Given the description of an element on the screen output the (x, y) to click on. 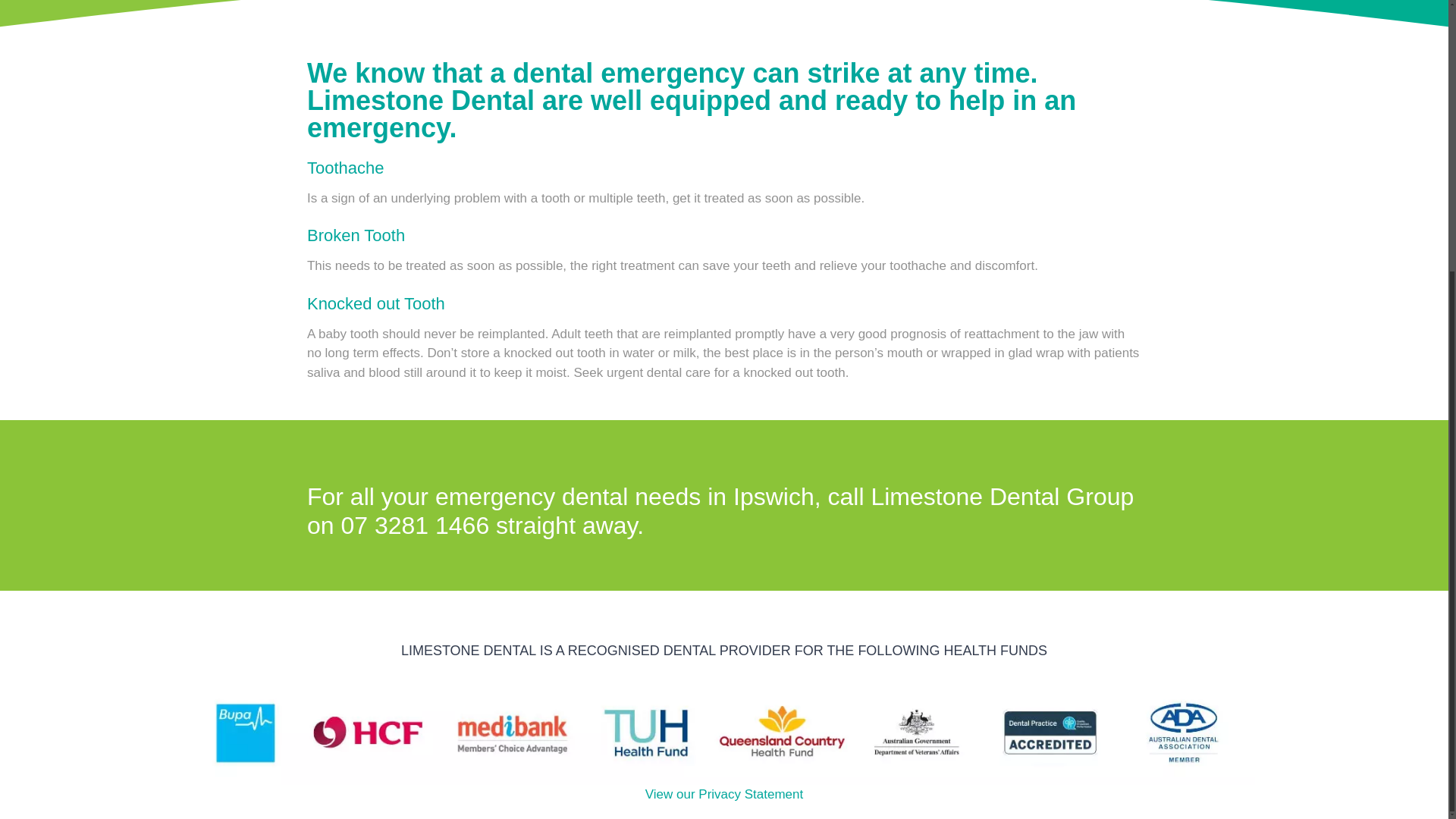
07 3281 1466 (414, 524)
View our Privacy Statement (724, 794)
